Given the description of an element on the screen output the (x, y) to click on. 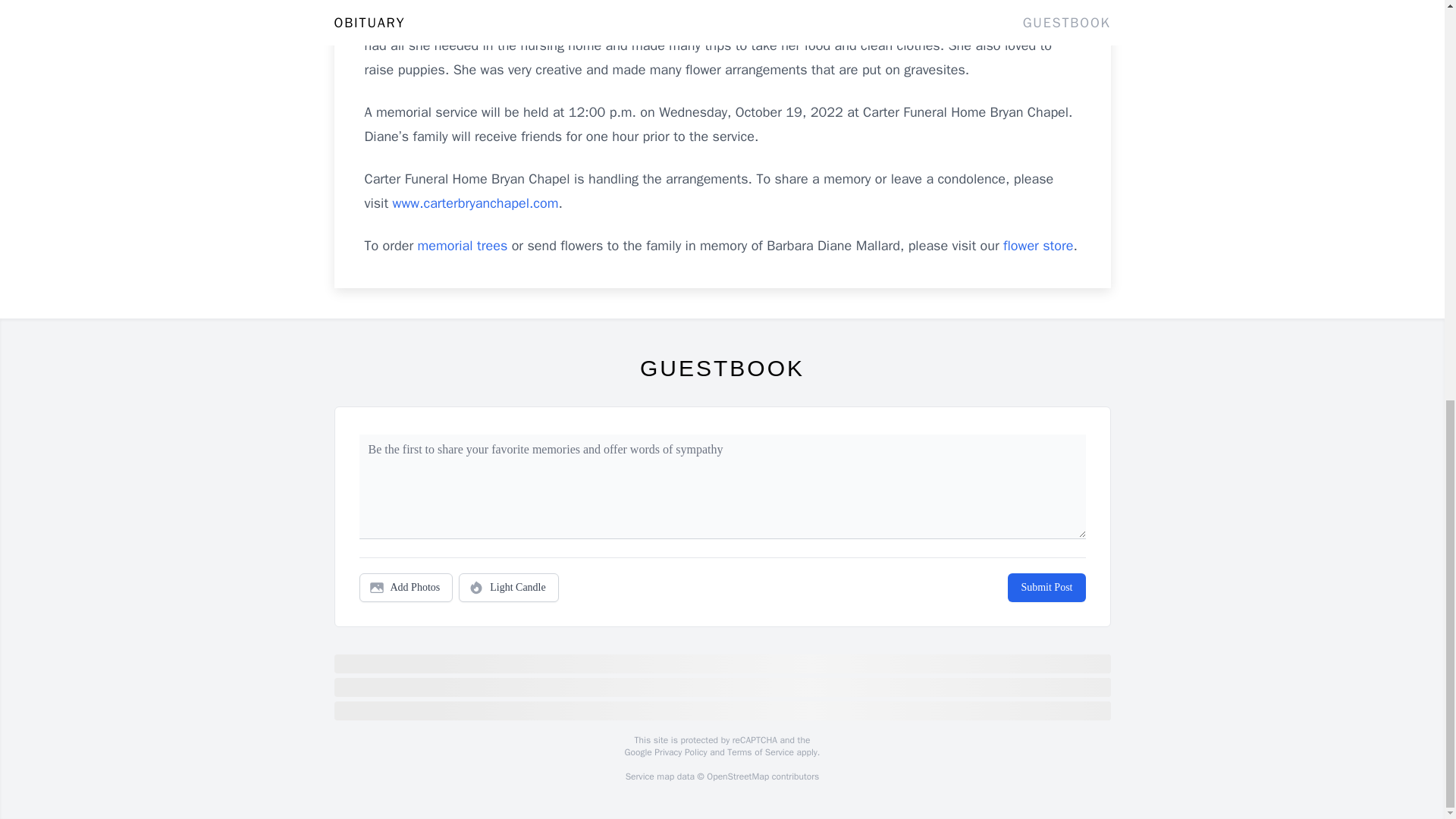
Submit Post (1045, 587)
flower store (1038, 245)
Privacy Policy (679, 752)
Terms of Service (759, 752)
Add Photos (405, 587)
OpenStreetMap (737, 776)
www.carterbryanchapel.com (476, 202)
Light Candle (508, 587)
memorial trees (462, 245)
